Given the description of an element on the screen output the (x, y) to click on. 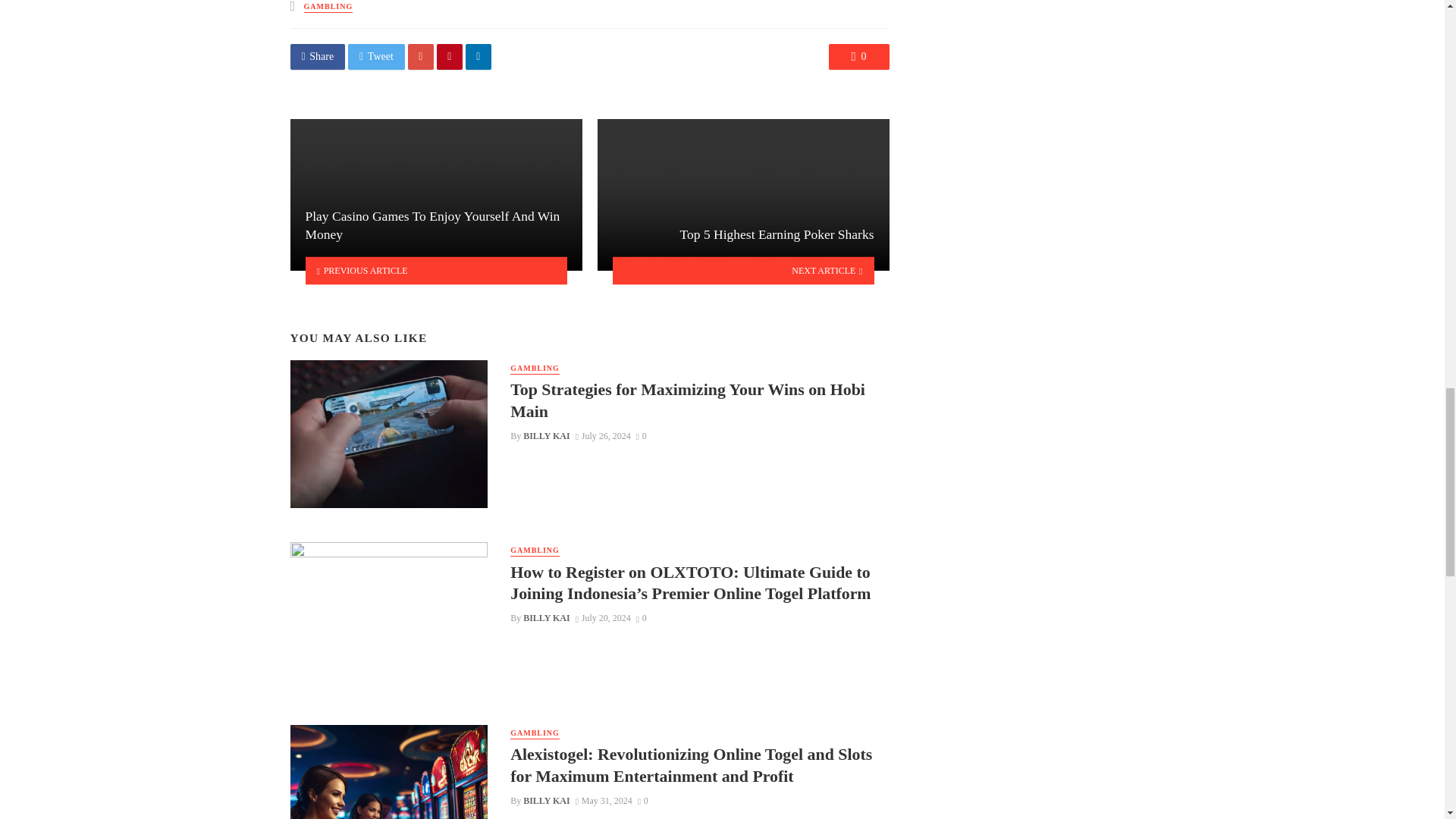
Tweet (375, 56)
0 (858, 56)
NEXT ARTICLE (742, 270)
Share on Twitter (375, 56)
Share (317, 56)
Share on Facebook (317, 56)
GAMBLING (535, 368)
0 (641, 435)
PREVIOUS ARTICLE (434, 270)
Share on Pinterest (449, 56)
